Given the description of an element on the screen output the (x, y) to click on. 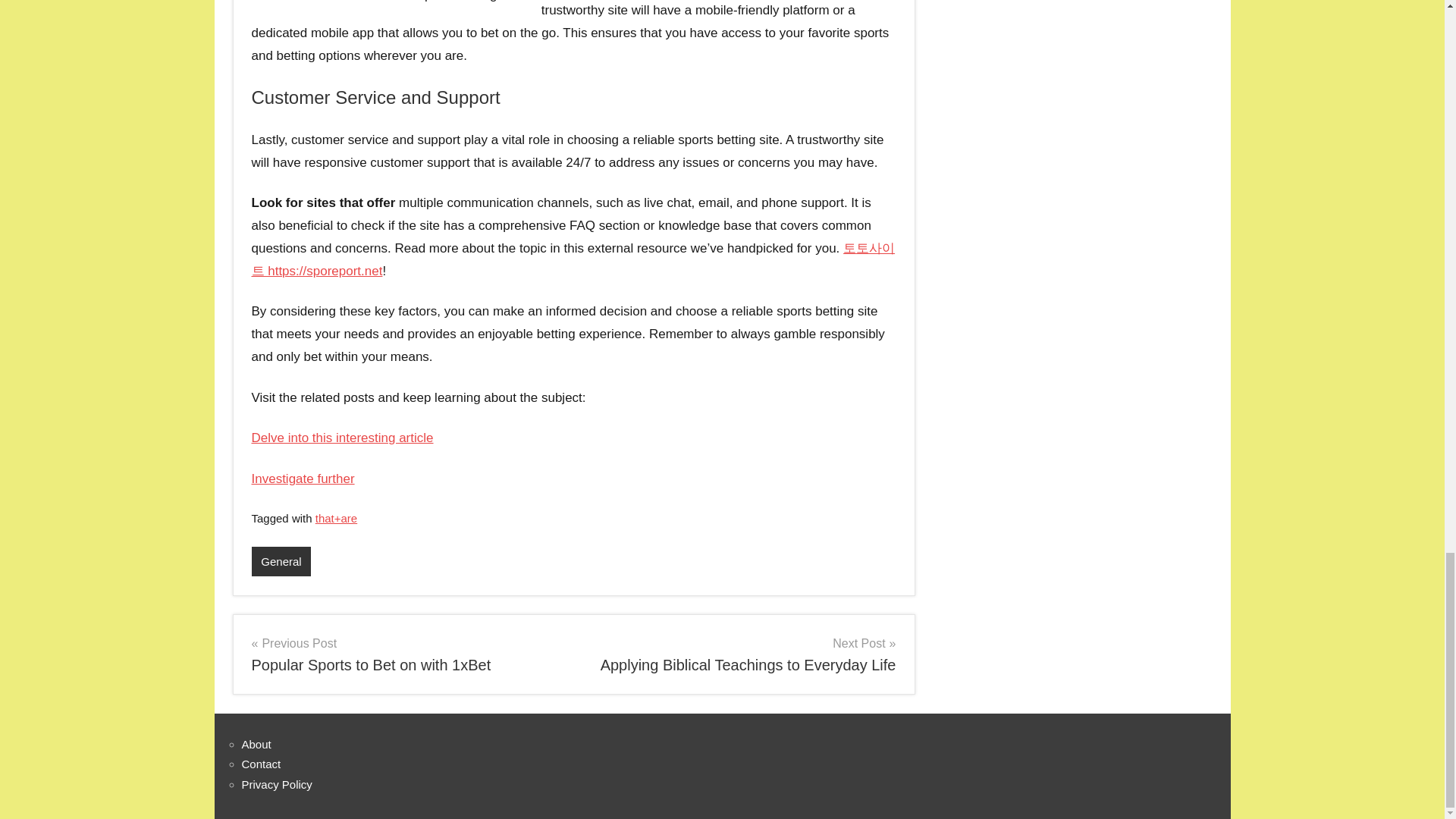
Privacy Policy (276, 784)
Contact (261, 763)
Investigate further (303, 478)
About (255, 744)
General (406, 654)
Delve into this interesting article (740, 654)
